Given the description of an element on the screen output the (x, y) to click on. 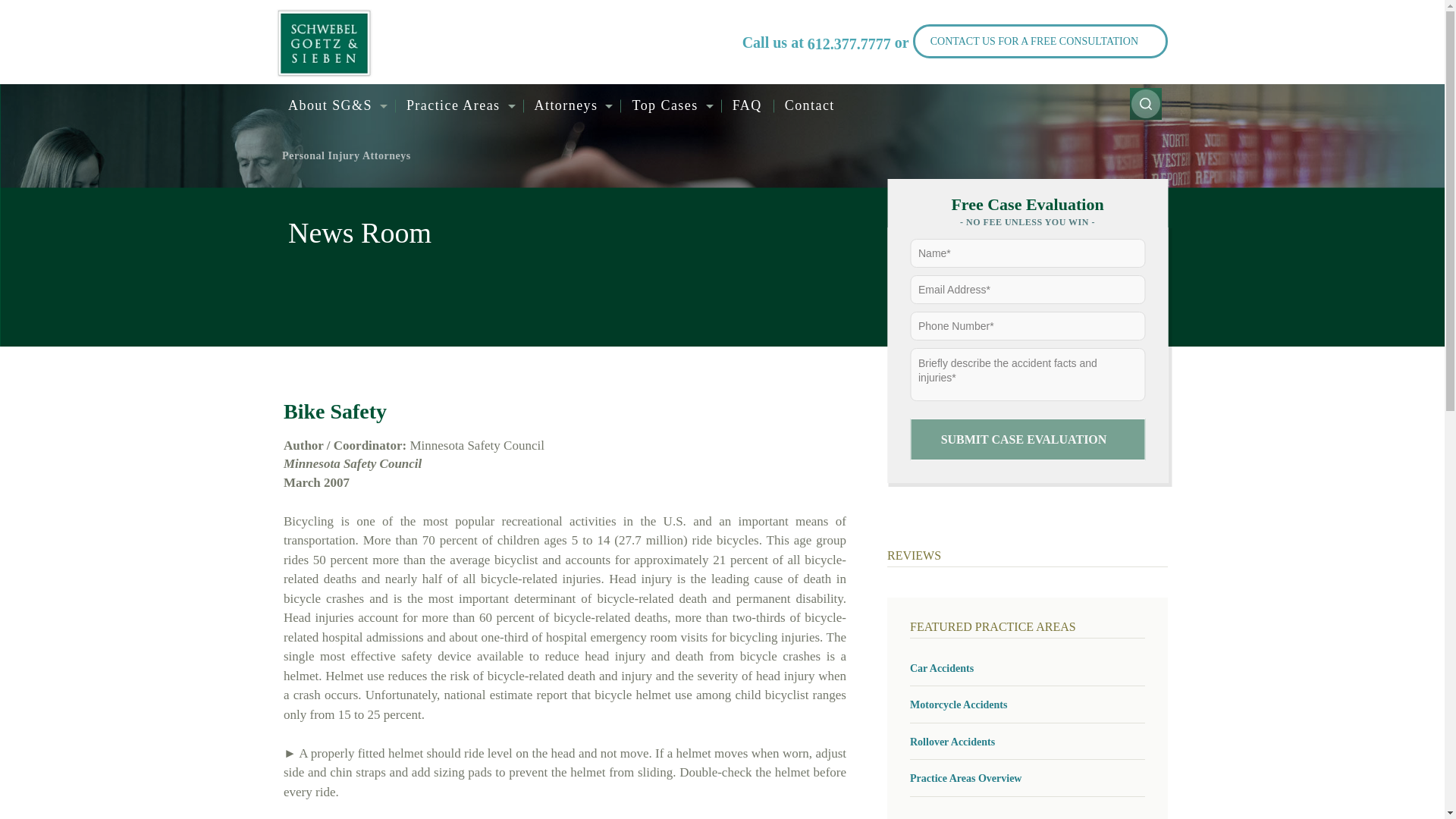
CONTACT US FOR A FREE CONSULTATION (1039, 41)
612.377.7777 (849, 44)
Practice Areas (458, 105)
